Given the description of an element on the screen output the (x, y) to click on. 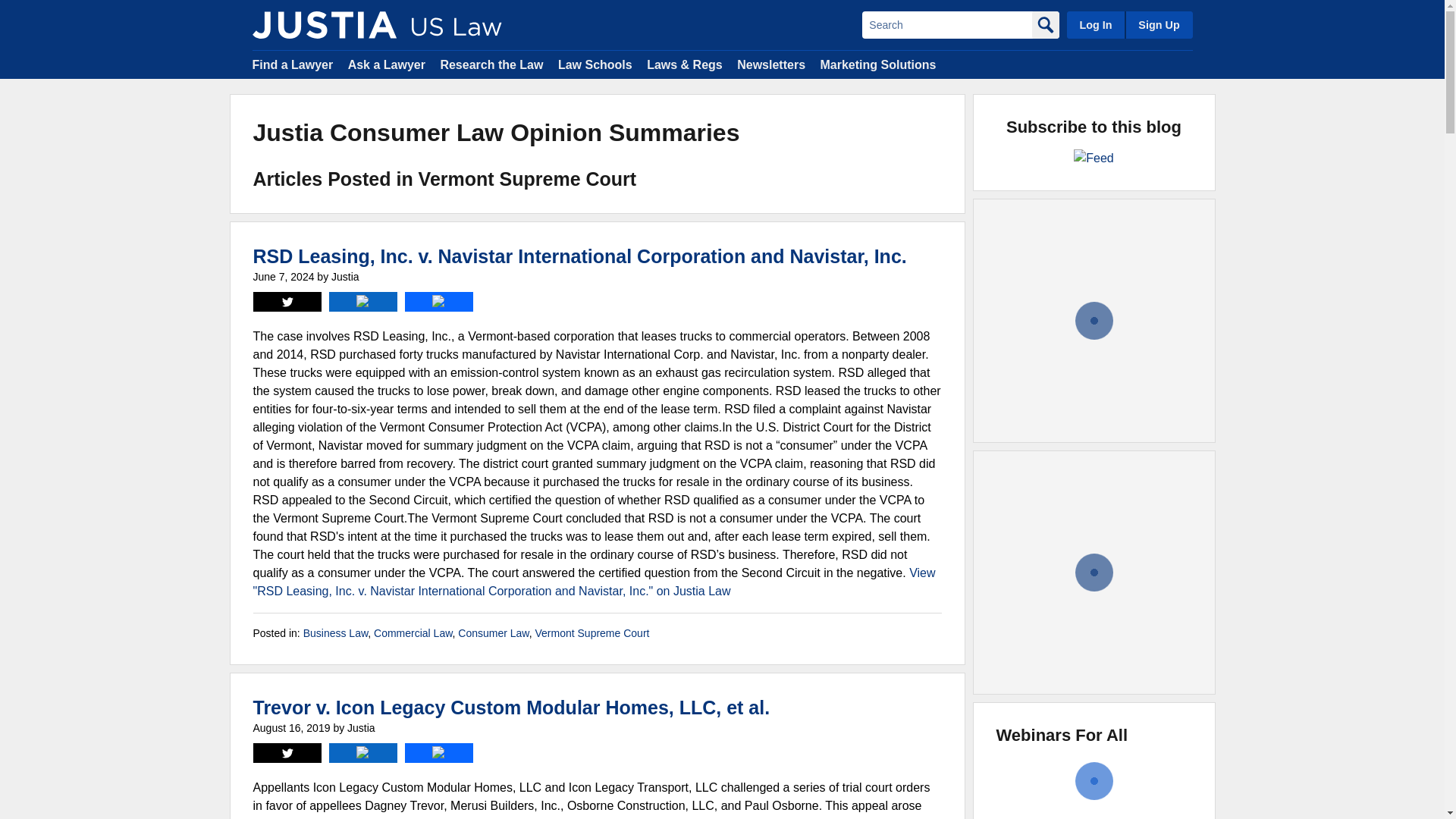
View all posts in Consumer Law (493, 633)
View all posts in Business Law (335, 633)
Business Law (335, 633)
Consumer Law (493, 633)
Commercial Law (412, 633)
Sign Up (1158, 24)
View all posts in Commercial Law (412, 633)
